Given the description of an element on the screen output the (x, y) to click on. 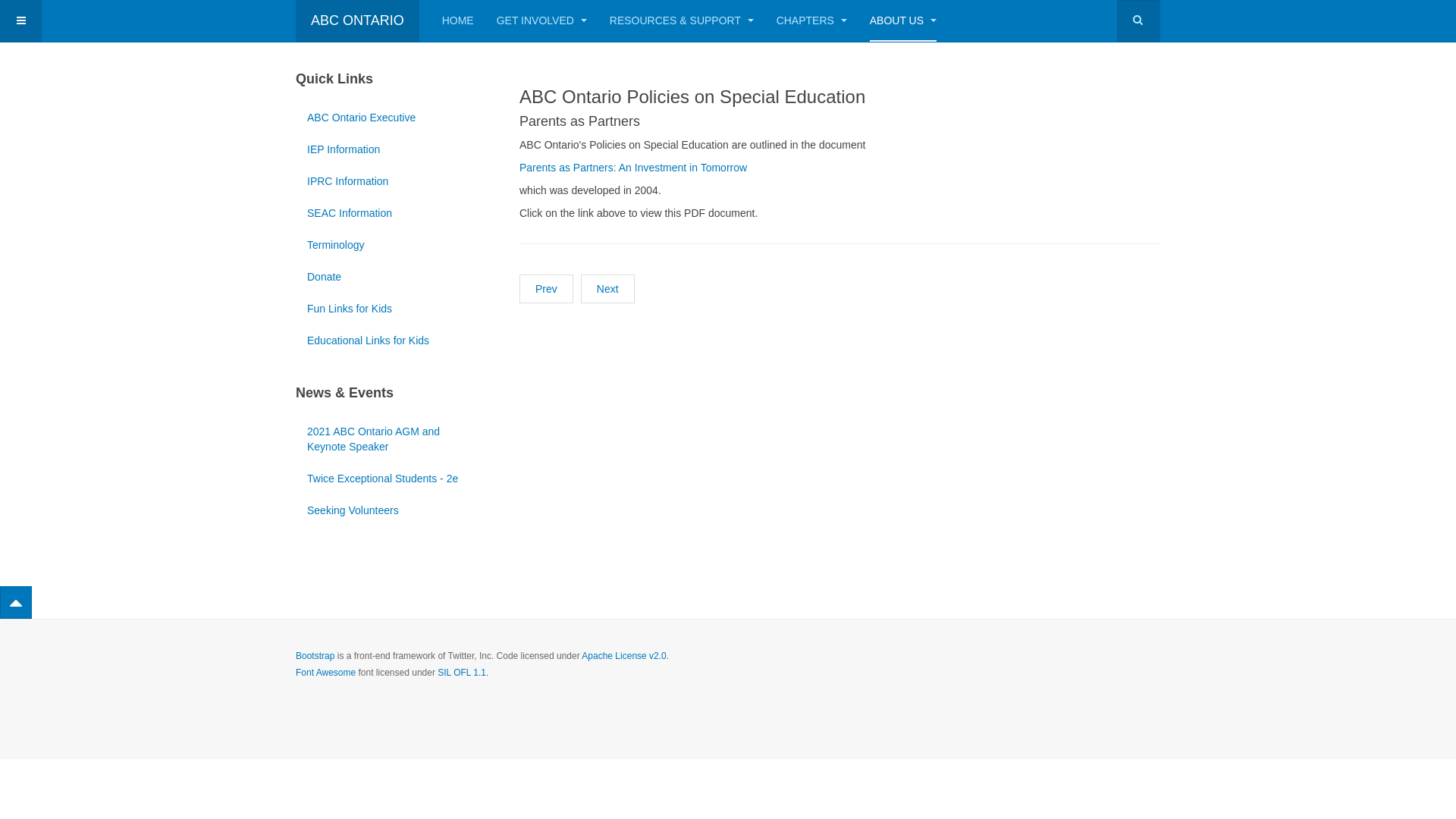
Next Element type: text (607, 288)
Apache License v2.0 Element type: text (623, 655)
IEP Information Element type: text (392, 149)
GET INVOLVED Element type: text (541, 20)
SIL OFL 1.1 Element type: text (461, 672)
Bootstrap Element type: text (314, 655)
SEAC Information Element type: text (392, 212)
Fun Links for Kids Element type: text (392, 308)
ABC Ontario Executive Element type: text (392, 117)
2021 ABC Ontario AGM and Keynote Speaker Element type: text (392, 438)
Donate Element type: text (392, 276)
IPRC Information Element type: text (392, 181)
Back to Top Element type: hover (15, 602)
Terminology Element type: text (392, 244)
HOME Element type: text (457, 20)
ABOUT US Element type: text (902, 20)
Parents as Partners: An Investment in Tomorrow Element type: text (632, 167)
Login Element type: text (28, 225)
Educational Links for Kids Element type: text (392, 340)
Prev Element type: text (546, 288)
RESOURCES & SUPPORT Element type: text (681, 20)
Twice Exceptional Students - 2e Element type: text (392, 478)
CHAPTERS Element type: text (811, 20)
ABC ONTARIO Element type: text (357, 20)
Font Awesome Element type: text (325, 672)
Seeking Volunteers Element type: text (392, 510)
